Given the description of an element on the screen output the (x, y) to click on. 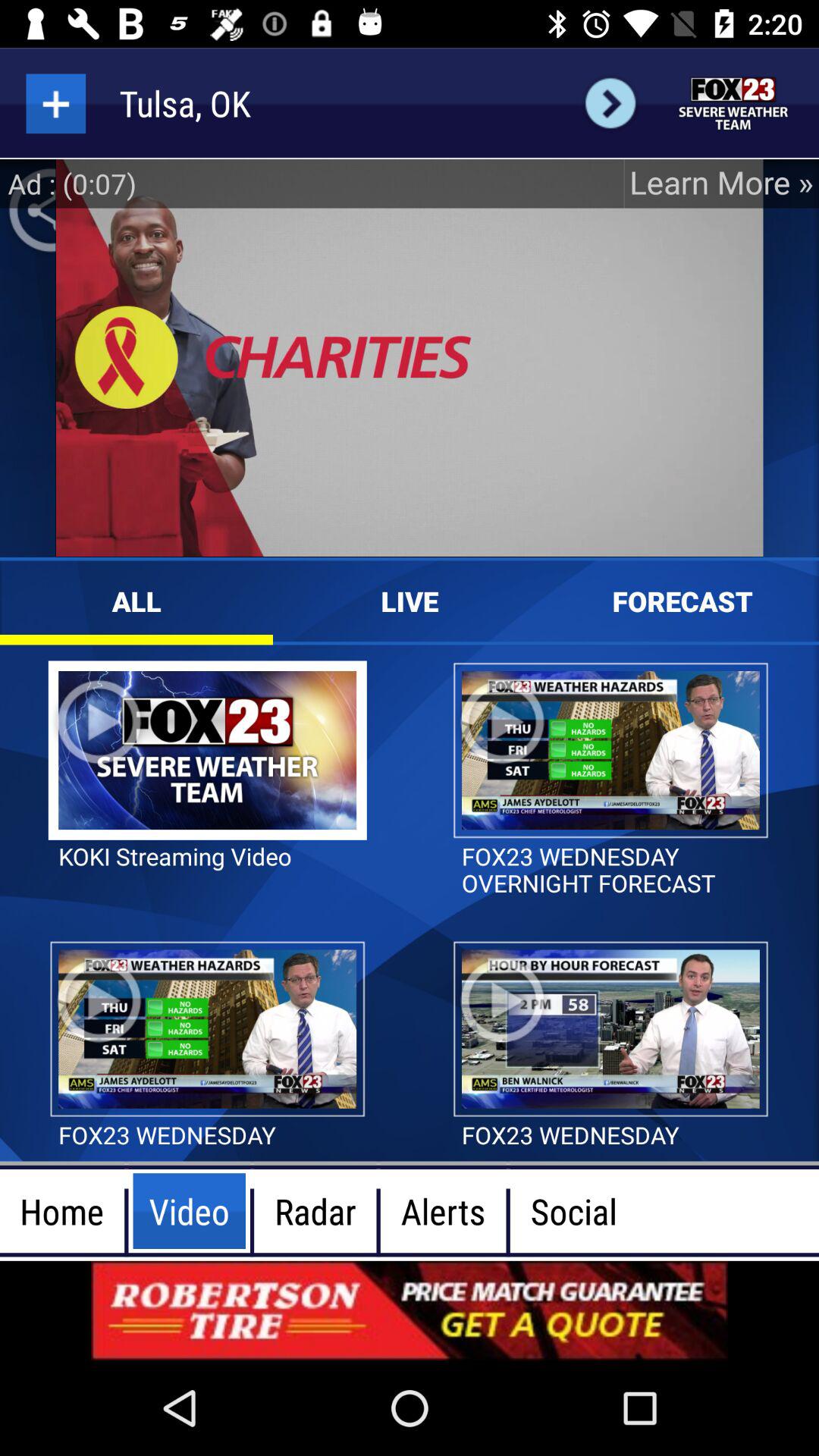
go forward (610, 103)
